Given the description of an element on the screen output the (x, y) to click on. 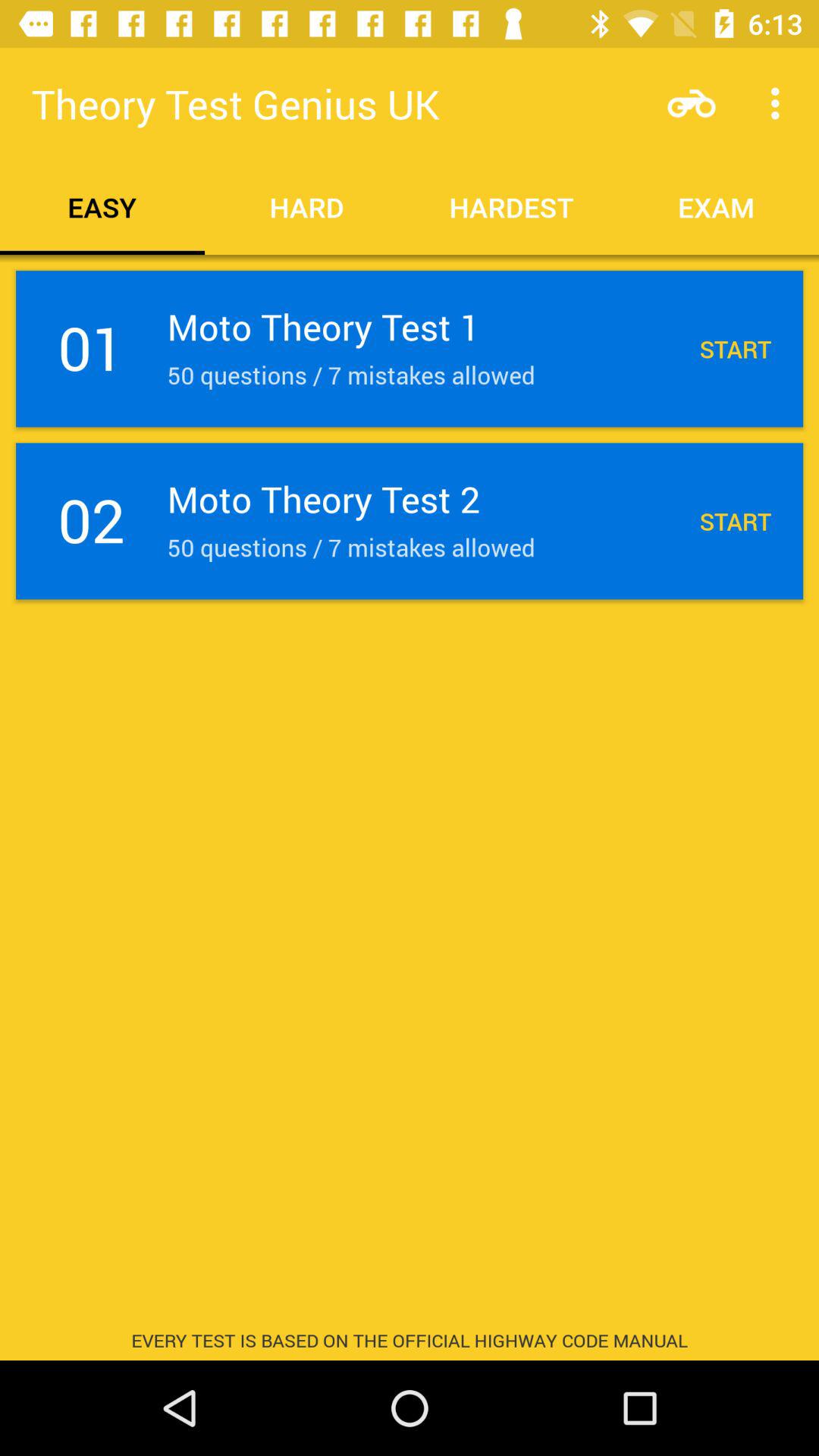
turn on item next to theory test genius item (691, 103)
